Given the description of an element on the screen output the (x, y) to click on. 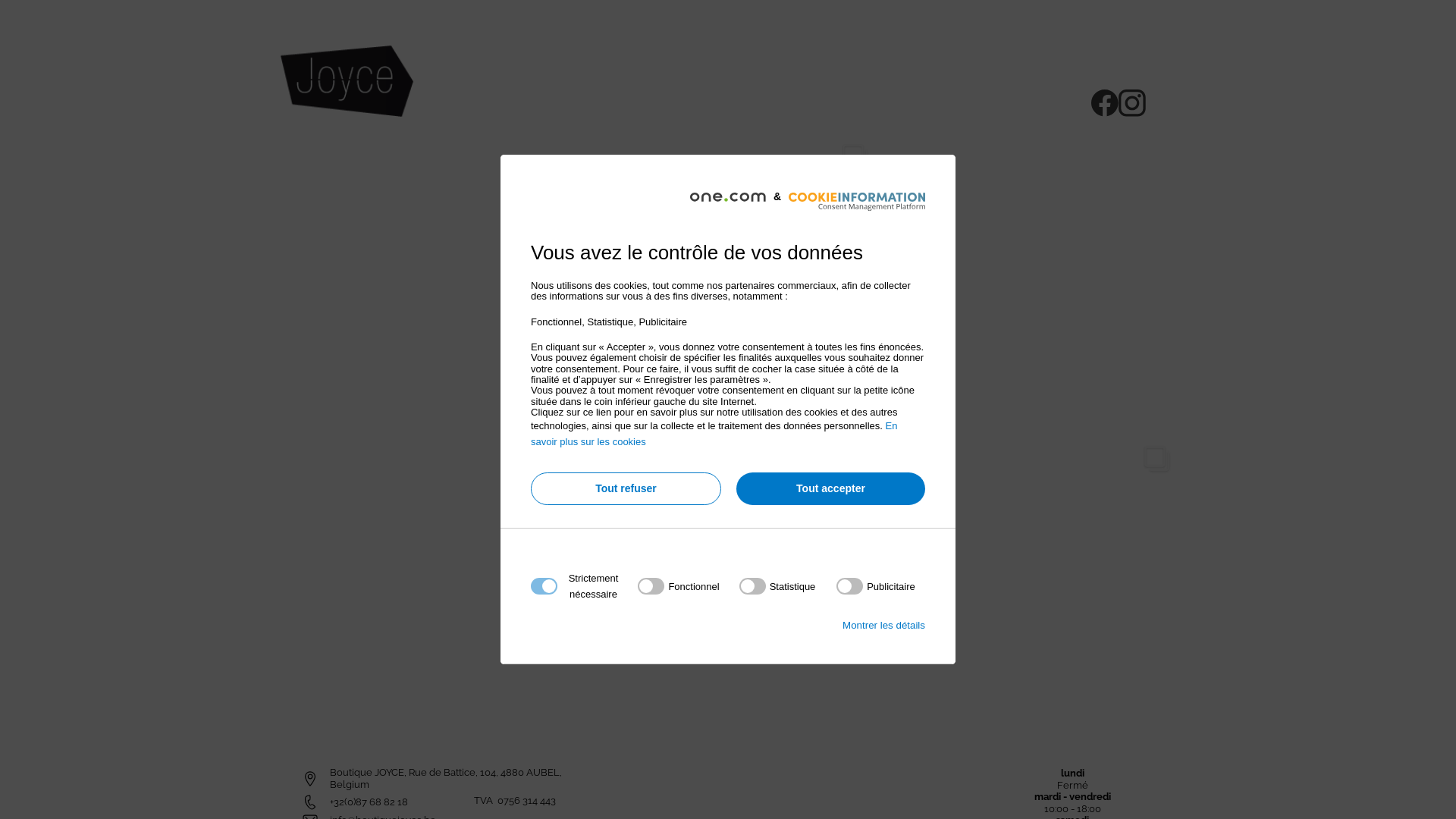
+32(0)87 68 82 18 Element type: text (368, 801)
En savoir plus sur les cookies Element type: text (713, 433)
Fonctionnel Element type: text (723, 769)
Tout refuser Element type: text (625, 488)
on Element type: text (677, 586)
Tout accepter Element type: text (830, 488)
Boutique JOYCE, Rue de Battice, 104, 4880 AUBEL, Belgium Element type: text (446, 778)
on Element type: text (777, 586)
on Element type: text (875, 586)
